Given the description of an element on the screen output the (x, y) to click on. 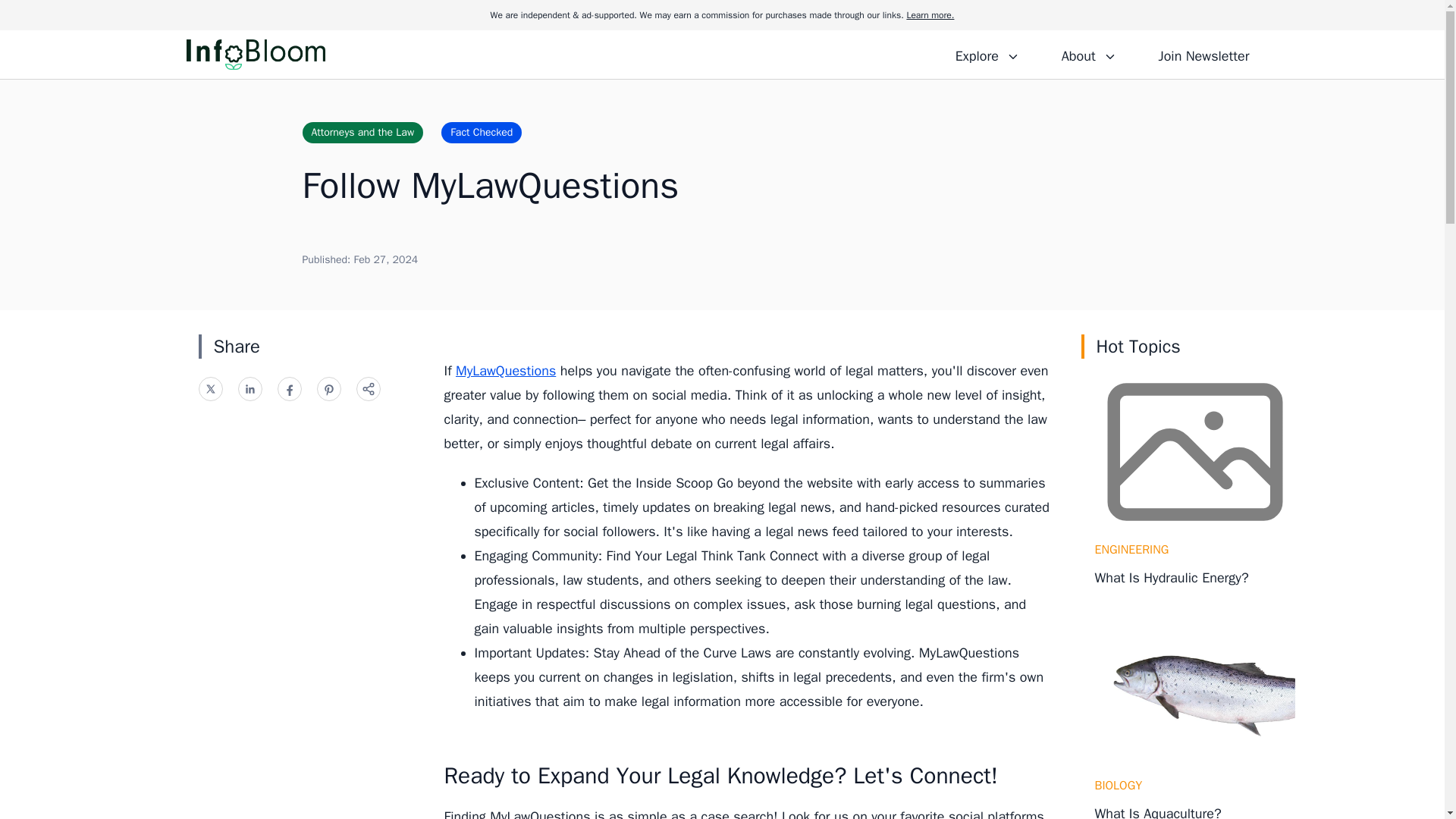
Join Newsletter (1202, 54)
Explore (986, 54)
About (1088, 54)
Fact Checked (481, 132)
Learn more. (929, 15)
Attorneys and the Law (362, 132)
